Given the description of an element on the screen output the (x, y) to click on. 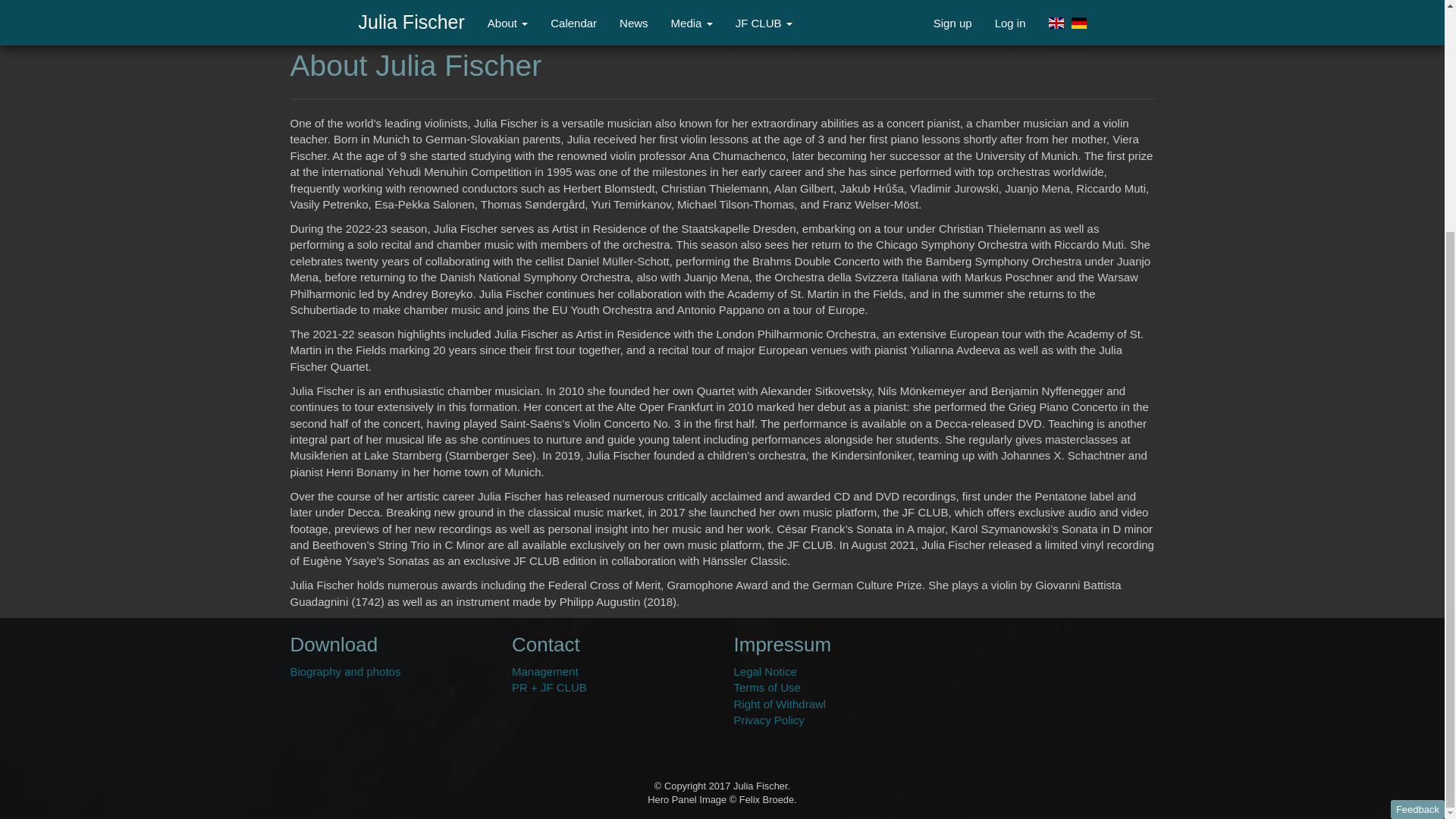
Management (545, 671)
Terms of Use (766, 686)
Biography and photos (344, 671)
Right of Withdrawl (780, 703)
Legal Notice (764, 671)
Privacy Policy (769, 719)
